Given the description of an element on the screen output the (x, y) to click on. 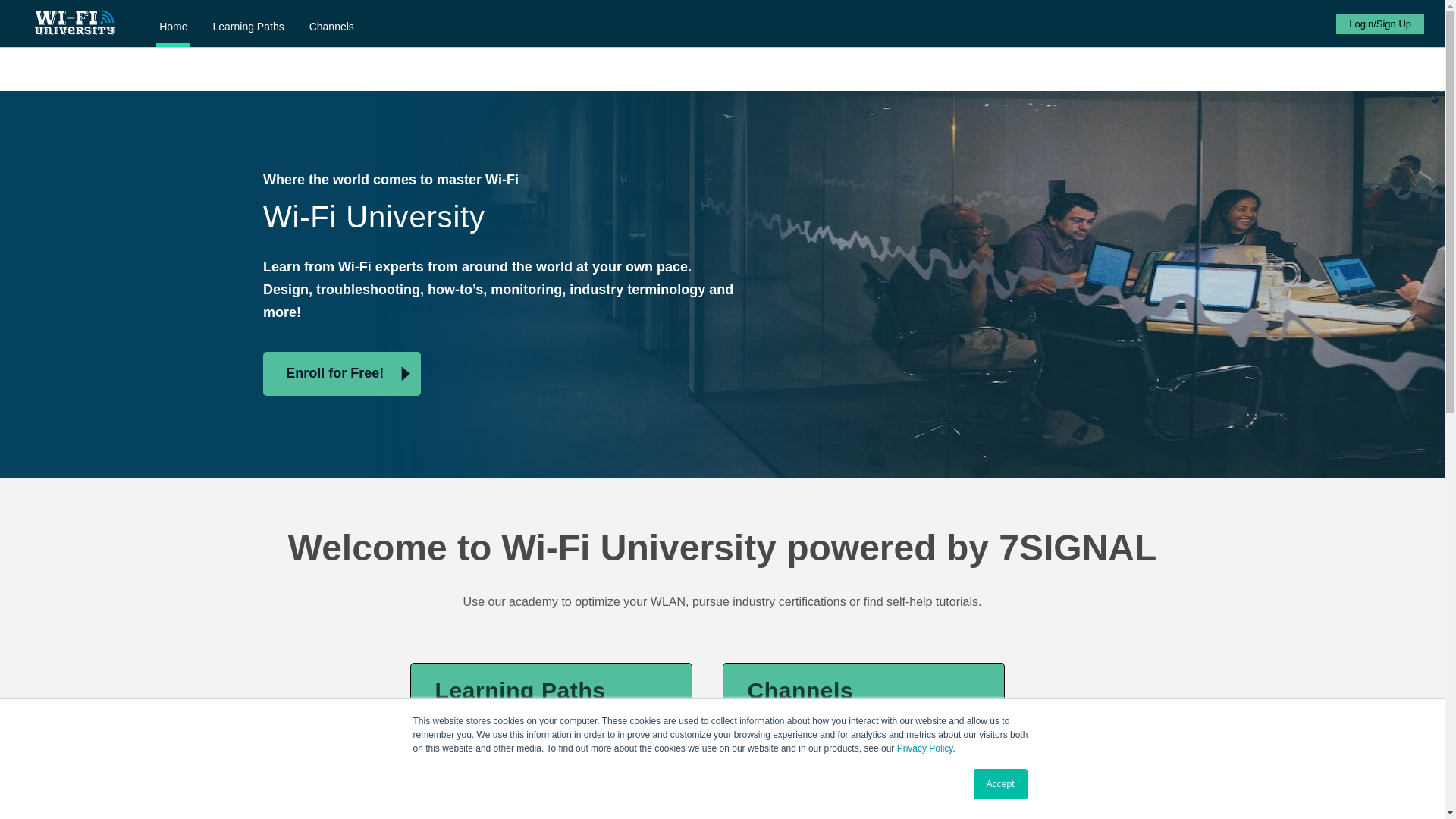
Privacy Policy (924, 747)
Channels (330, 28)
Learning Paths (247, 28)
Home (172, 28)
Accept (1000, 784)
Home (172, 28)
Enroll for Free! (341, 373)
Channels (563, 711)
Learning Paths (330, 28)
